Given the description of an element on the screen output the (x, y) to click on. 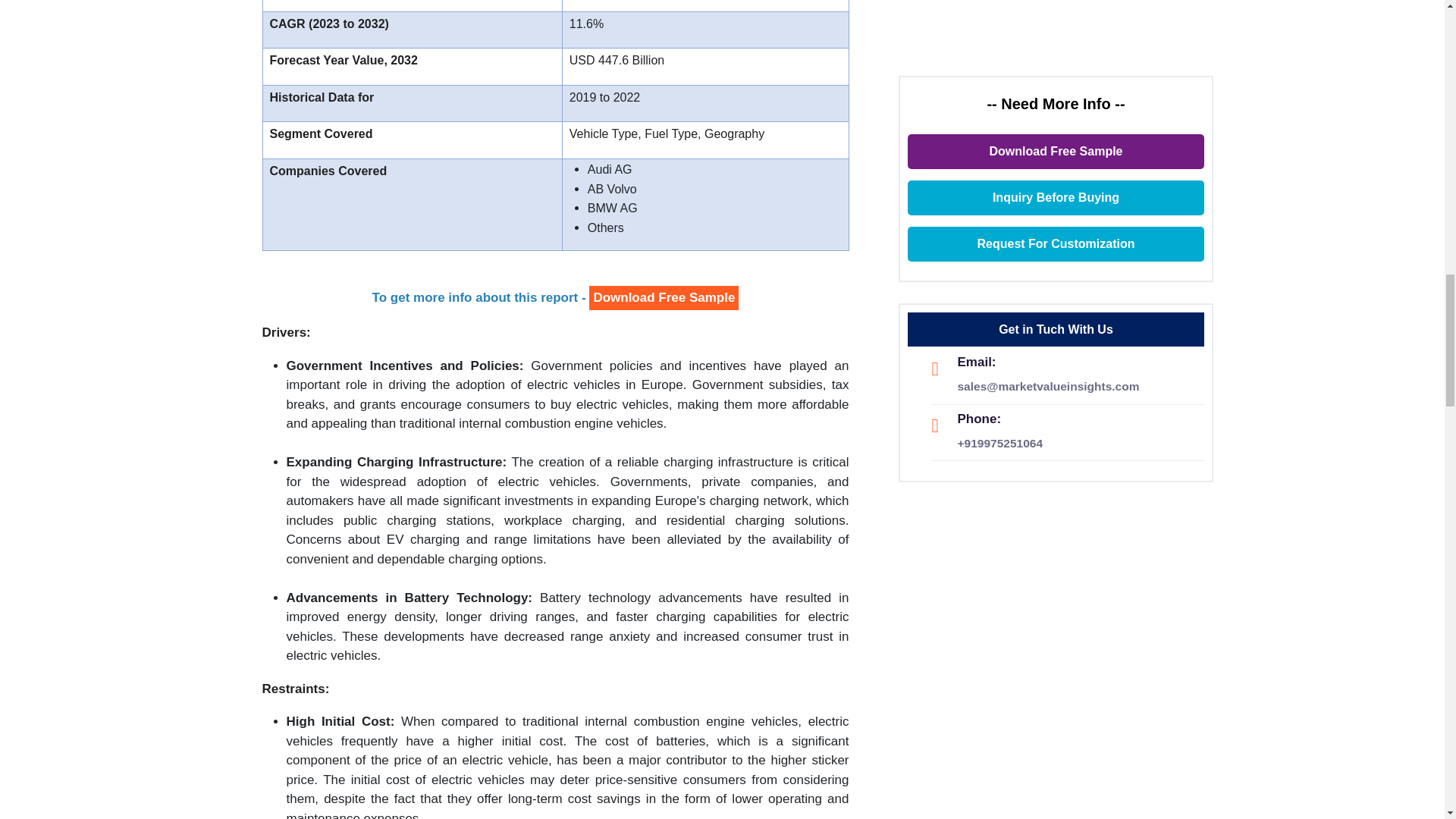
Download Free Sample (663, 298)
